Given the description of an element on the screen output the (x, y) to click on. 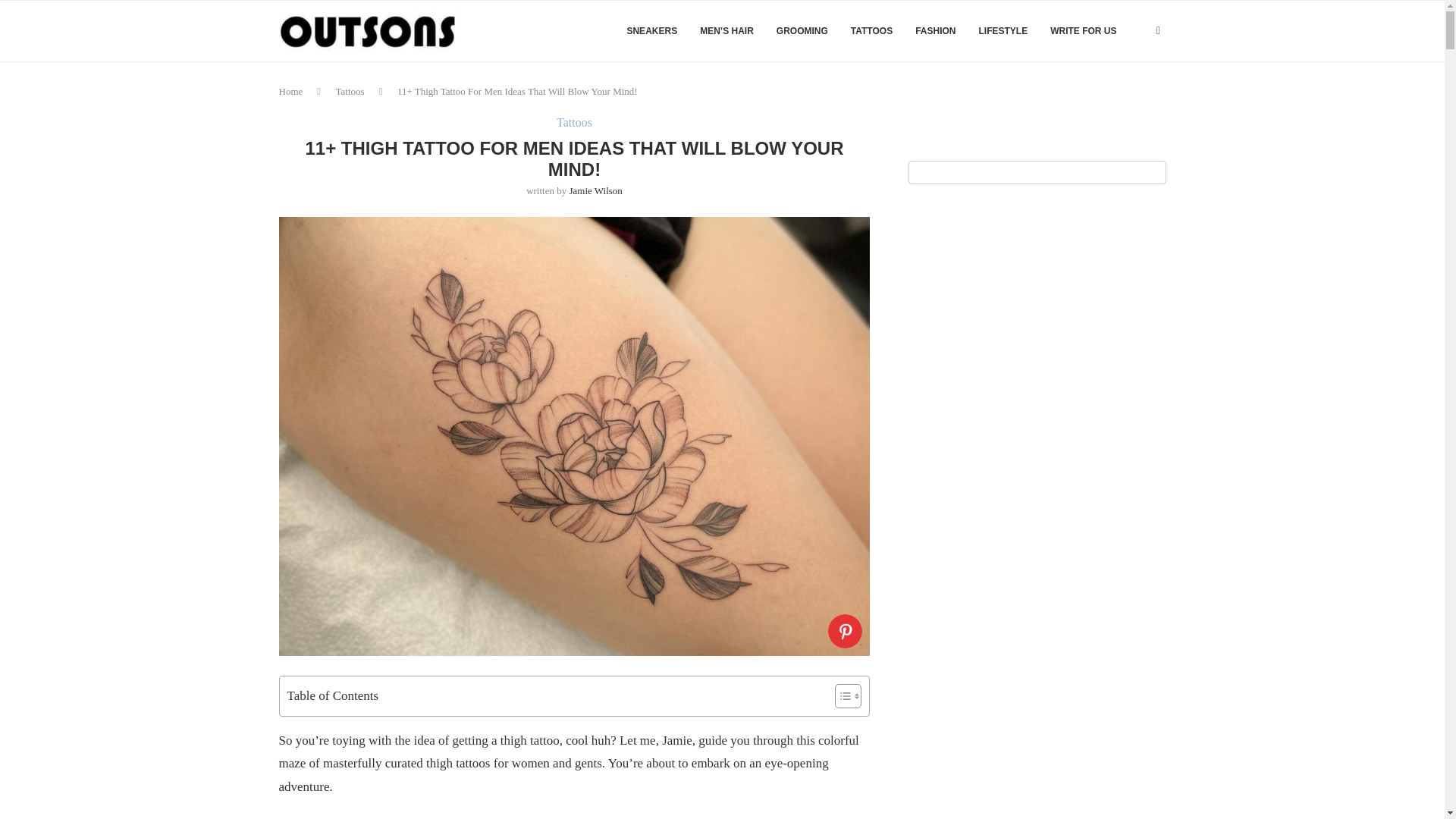
Tattoos (350, 91)
Home (290, 91)
WRITE FOR US (1082, 30)
Loading... (574, 224)
Tattoos (574, 122)
Jamie Wilson (595, 190)
